Given the description of an element on the screen output the (x, y) to click on. 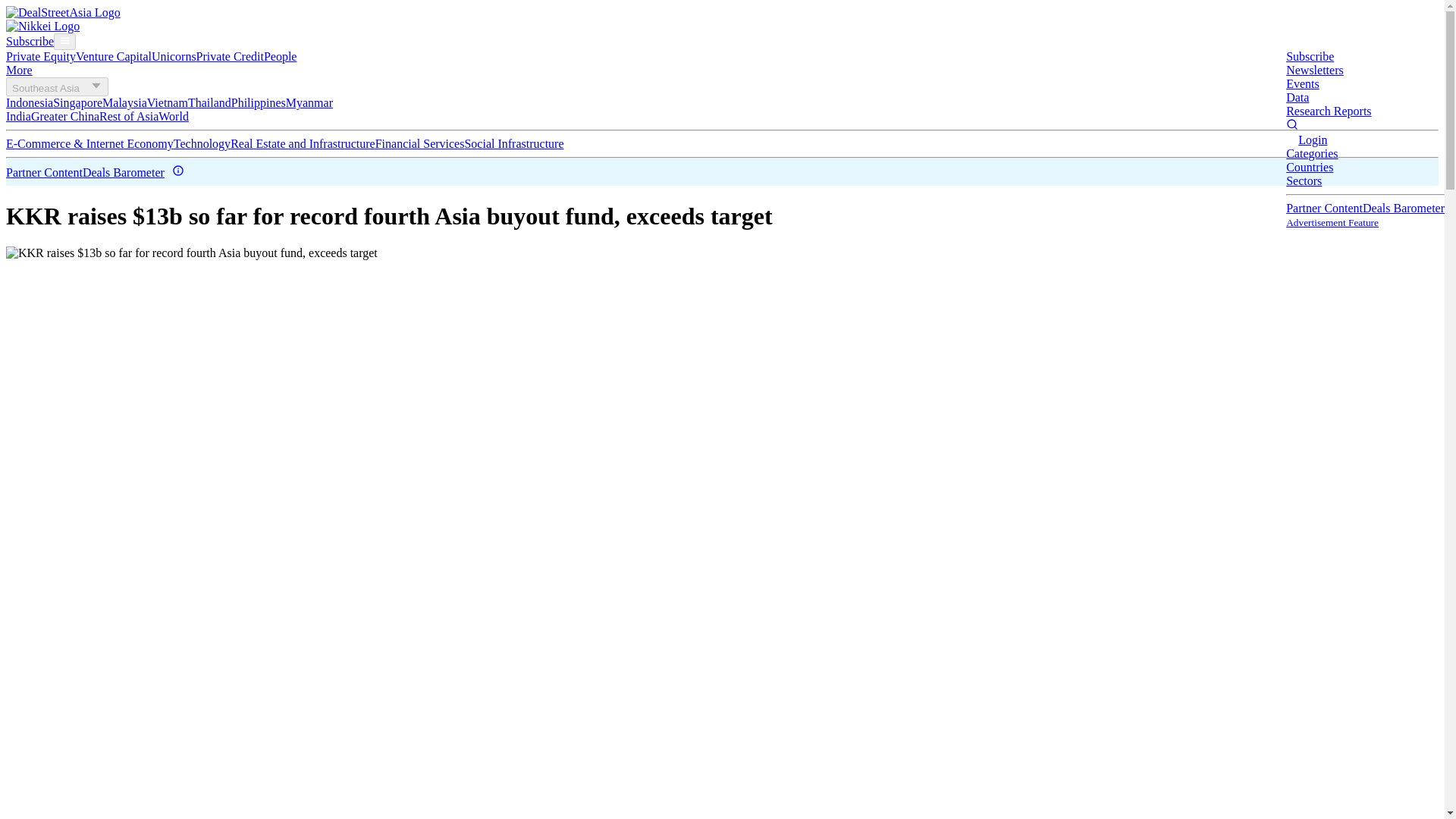
Login (1312, 139)
Research Reports (1328, 110)
Unicorns (173, 56)
Countries (1309, 166)
Data (1296, 97)
Singapore (76, 102)
Subscribe (29, 41)
Newsletters (1314, 69)
Thailand (209, 102)
Indonesia (28, 102)
Private Credit (229, 56)
Private Equity (40, 56)
Vietnam (167, 102)
Partner Content (1323, 207)
More (18, 69)
